Given the description of an element on the screen output the (x, y) to click on. 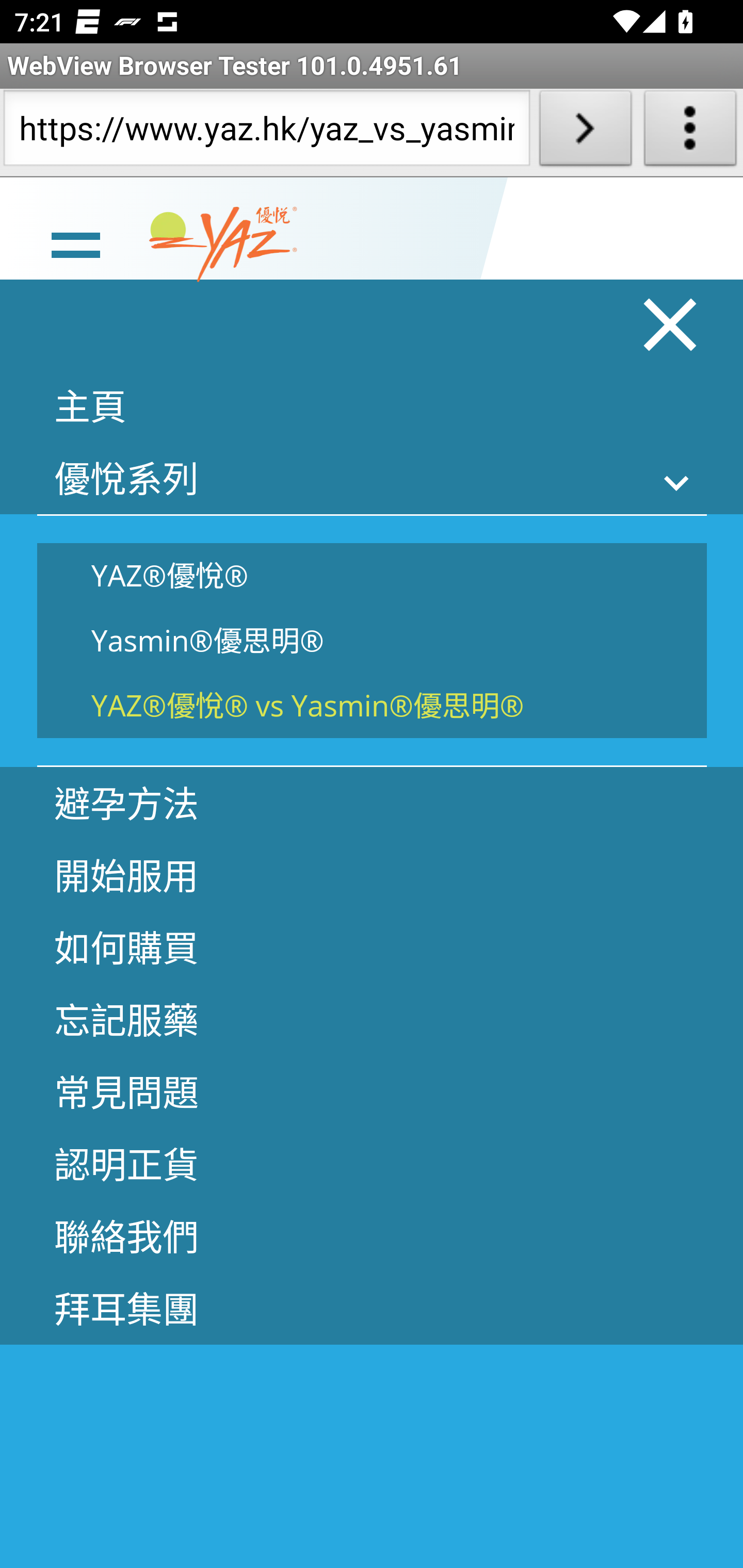
Load URL (585, 132)
About WebView (690, 132)
www.yaz (222, 244)
line Toggle burger menu (75, 242)
 Close burger menu (670, 323)
主頁 (371, 405)
優悅系列 (371, 477)
Toggle sub menu (677, 481)
YAZ®優悅® (372, 574)
Yasmin®優思明® (372, 640)
YAZ®優悅® vs Yasmin®優思明® (372, 704)
避孕方法 (371, 802)
開始服用 (371, 874)
如何購買 (371, 946)
忘記服藥 (371, 1018)
常見問題 (371, 1090)
認明正貨 (371, 1163)
聯絡我們 (371, 1235)
拜耳集團 (371, 1308)
